Given the description of an element on the screen output the (x, y) to click on. 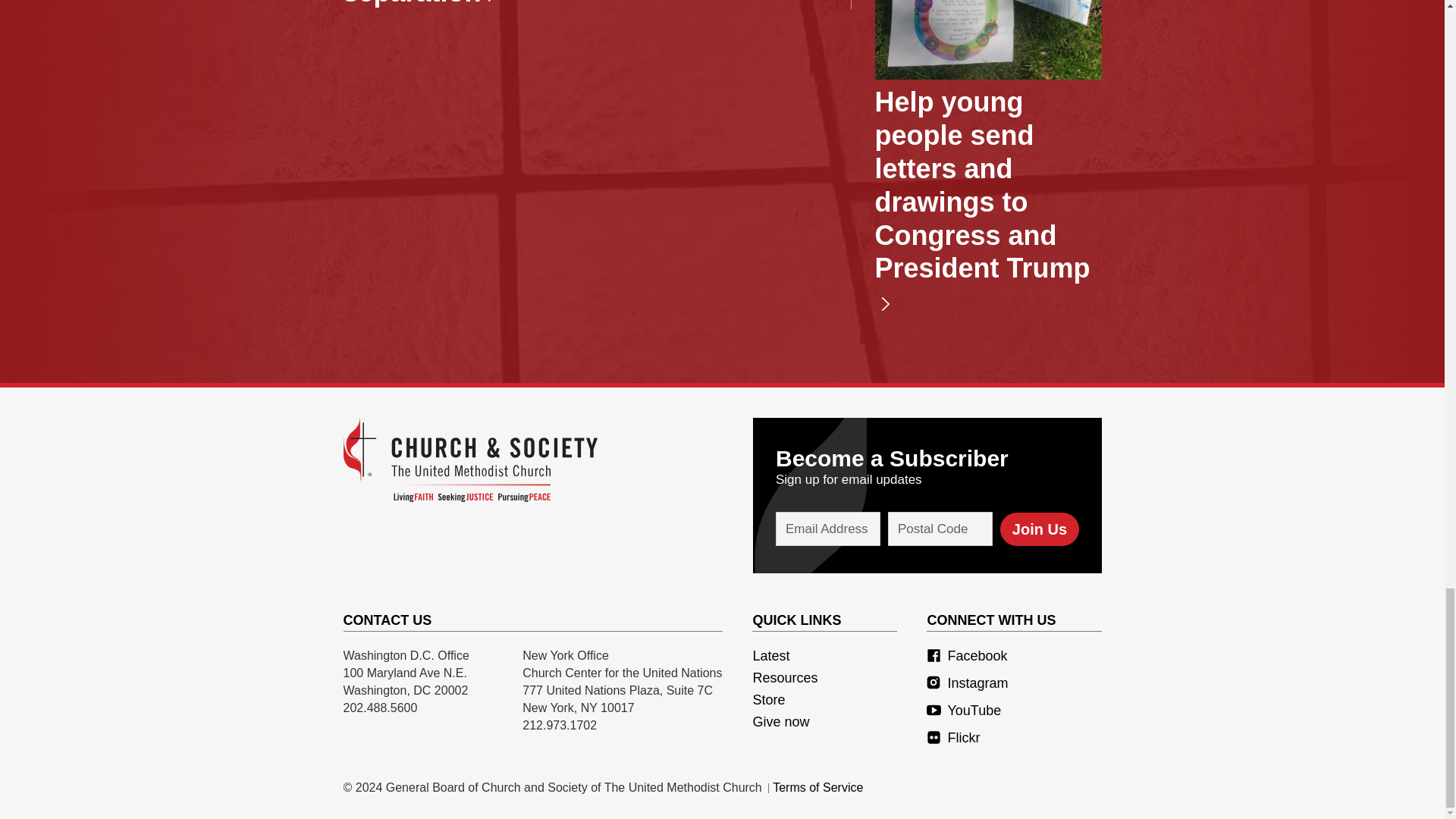
Join Us (1038, 529)
